Given the description of an element on the screen output the (x, y) to click on. 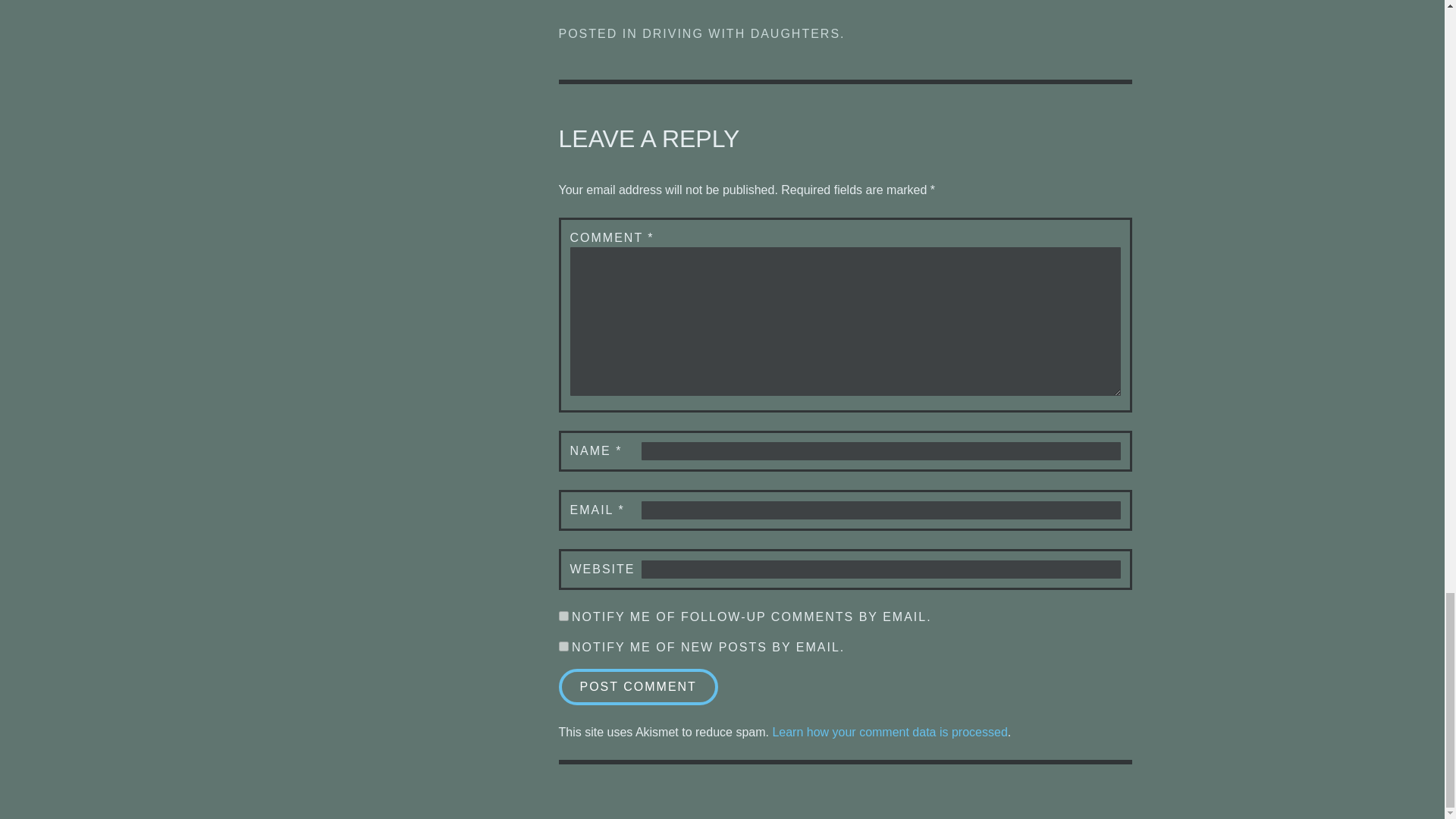
Post Comment (637, 687)
Learn how your comment data is processed (889, 731)
subscribe (562, 615)
subscribe (562, 646)
DRIVING WITH DAUGHTERS (741, 33)
Post Comment (637, 687)
